Given the description of an element on the screen output the (x, y) to click on. 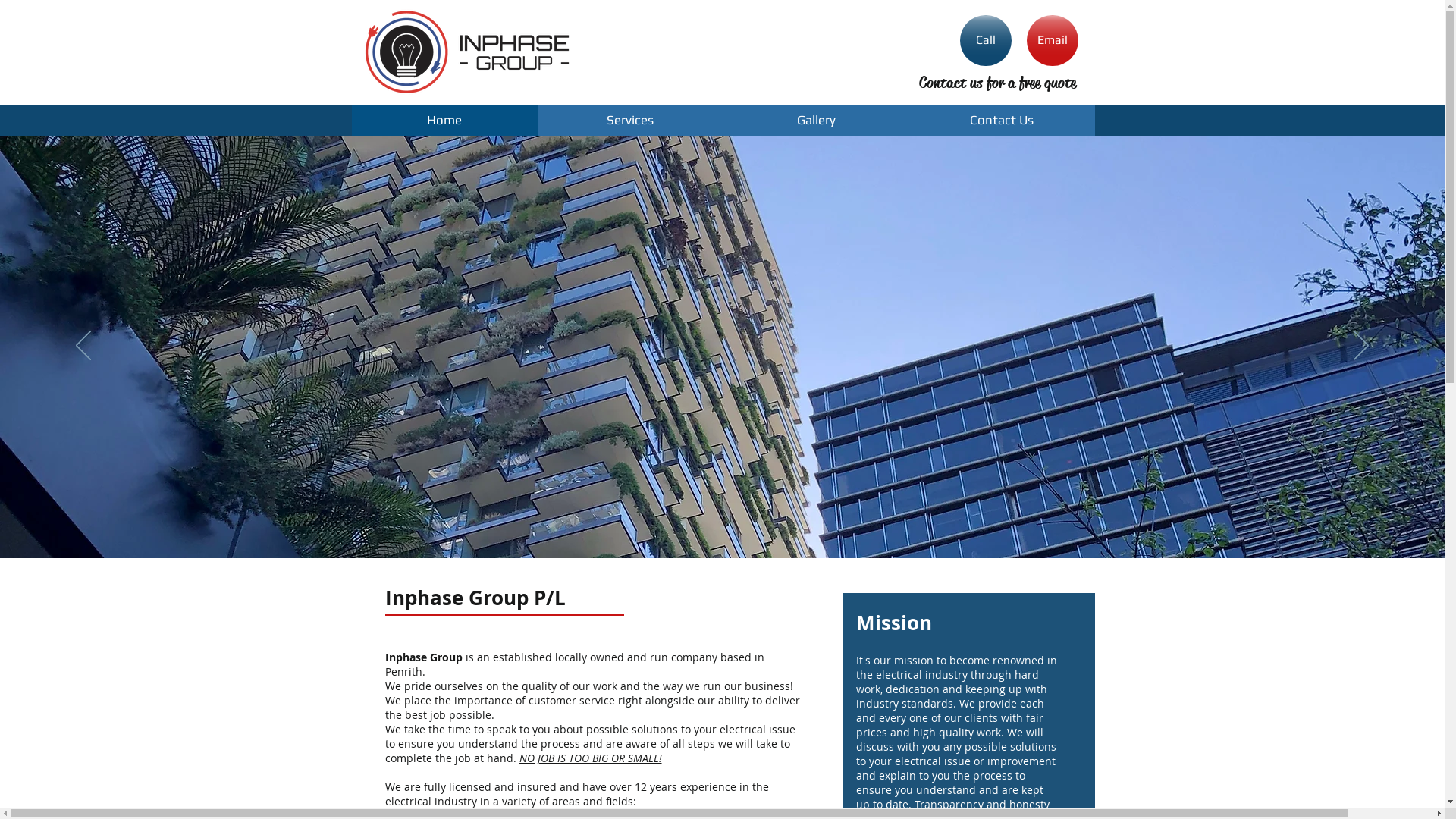
Home Element type: text (444, 119)
Gallery Element type: text (816, 119)
Call Element type: text (985, 40)
Email Element type: text (1052, 40)
Contact Us Element type: text (1001, 119)
Services Element type: text (629, 119)
